Given the description of an element on the screen output the (x, y) to click on. 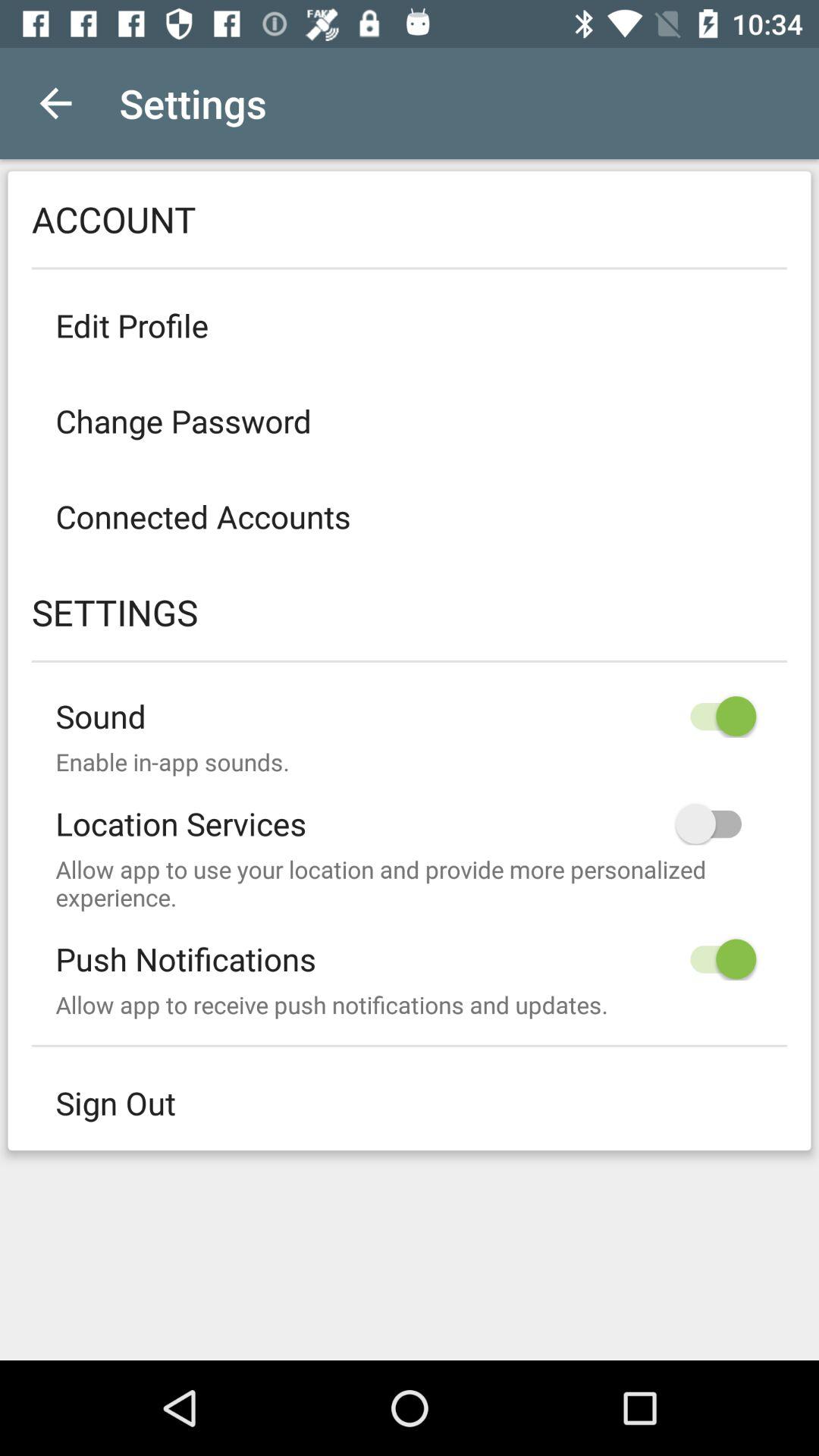
scroll until connected accounts (409, 516)
